Given the description of an element on the screen output the (x, y) to click on. 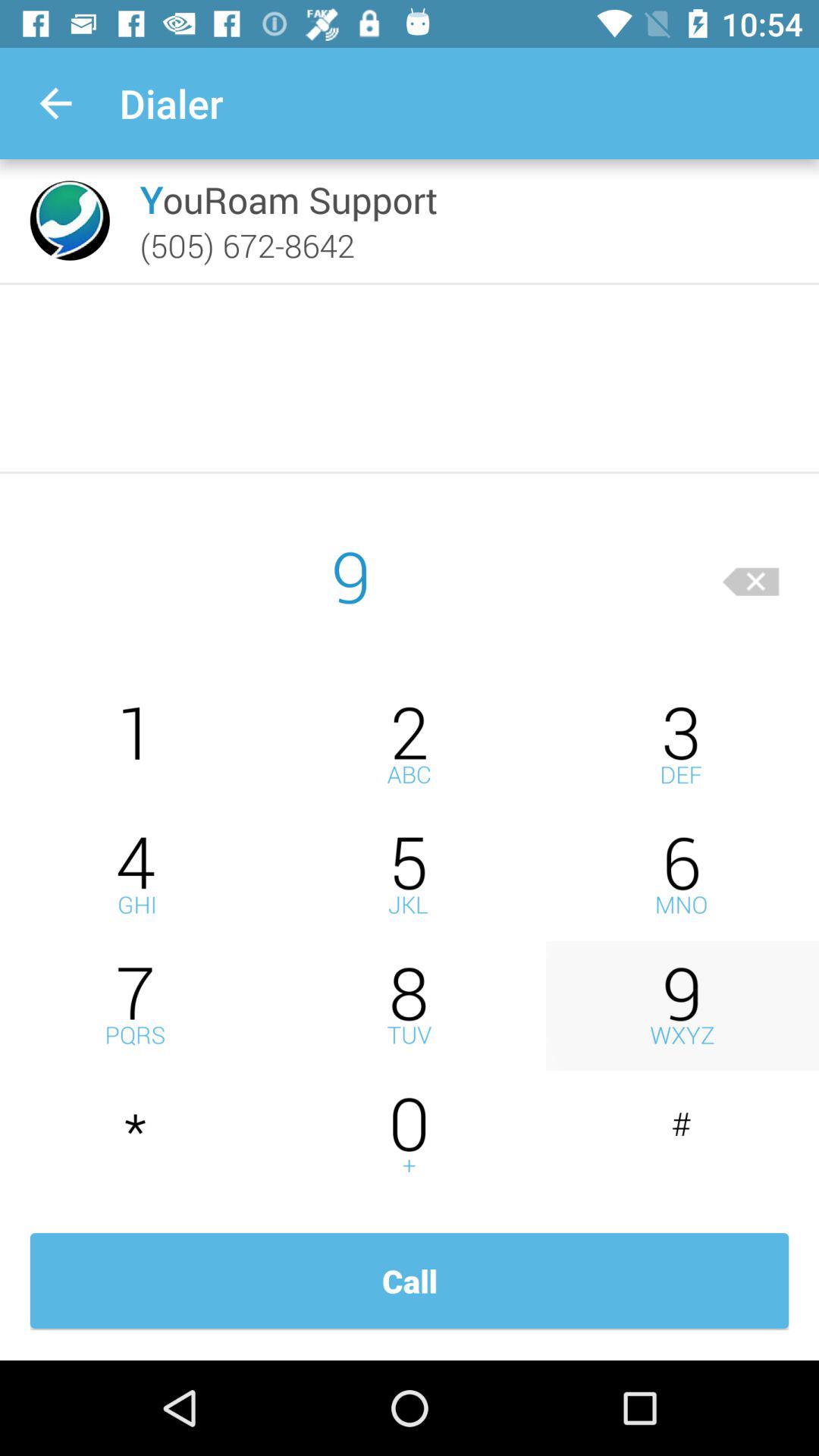
dialler number 3 (682, 745)
